Given the description of an element on the screen output the (x, y) to click on. 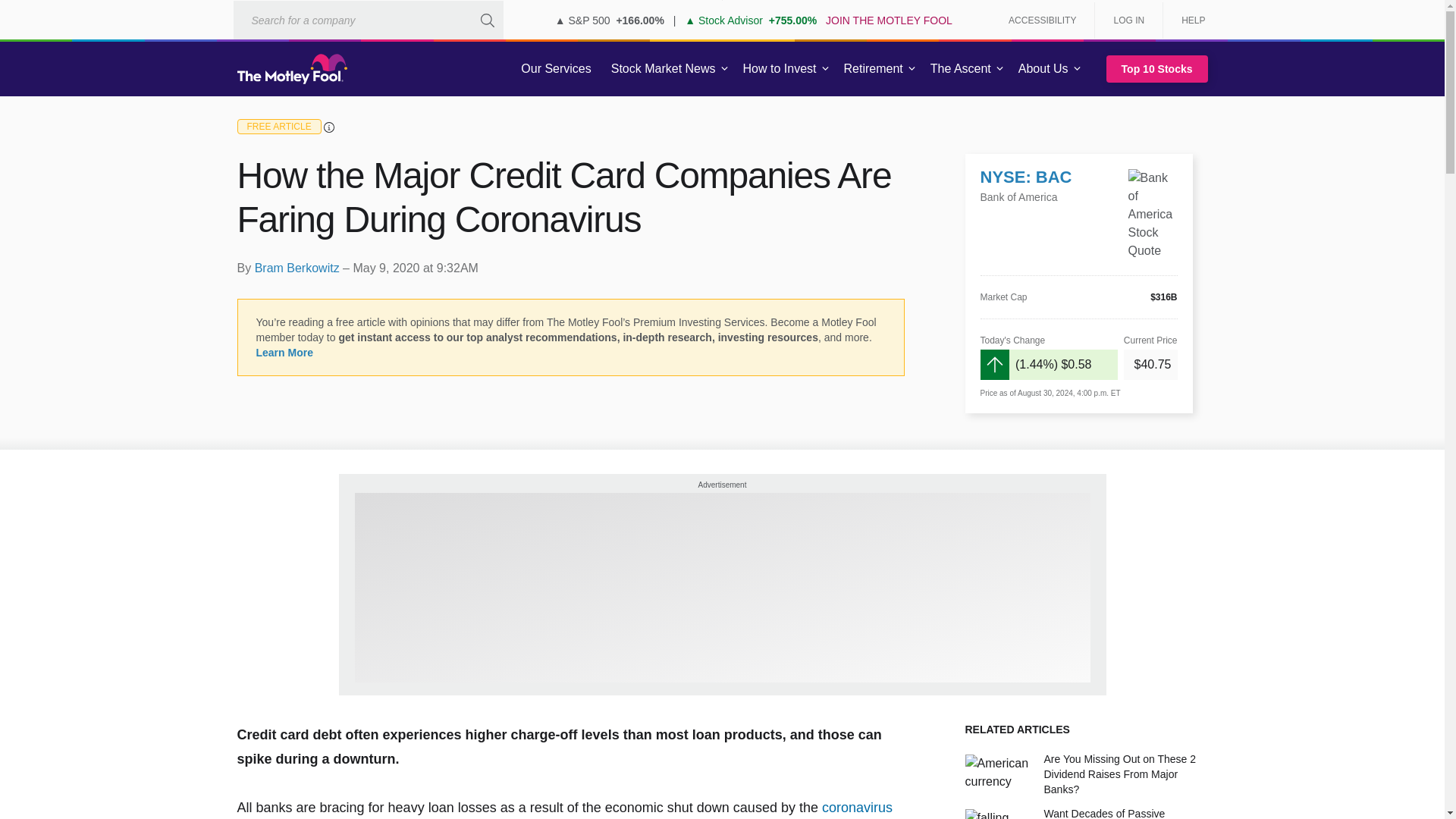
ACCESSIBILITY (1042, 19)
How to Invest (779, 68)
LOG IN (1128, 19)
HELP (1187, 19)
Our Services (555, 68)
Stock Market News (662, 68)
